Given the description of an element on the screen output the (x, y) to click on. 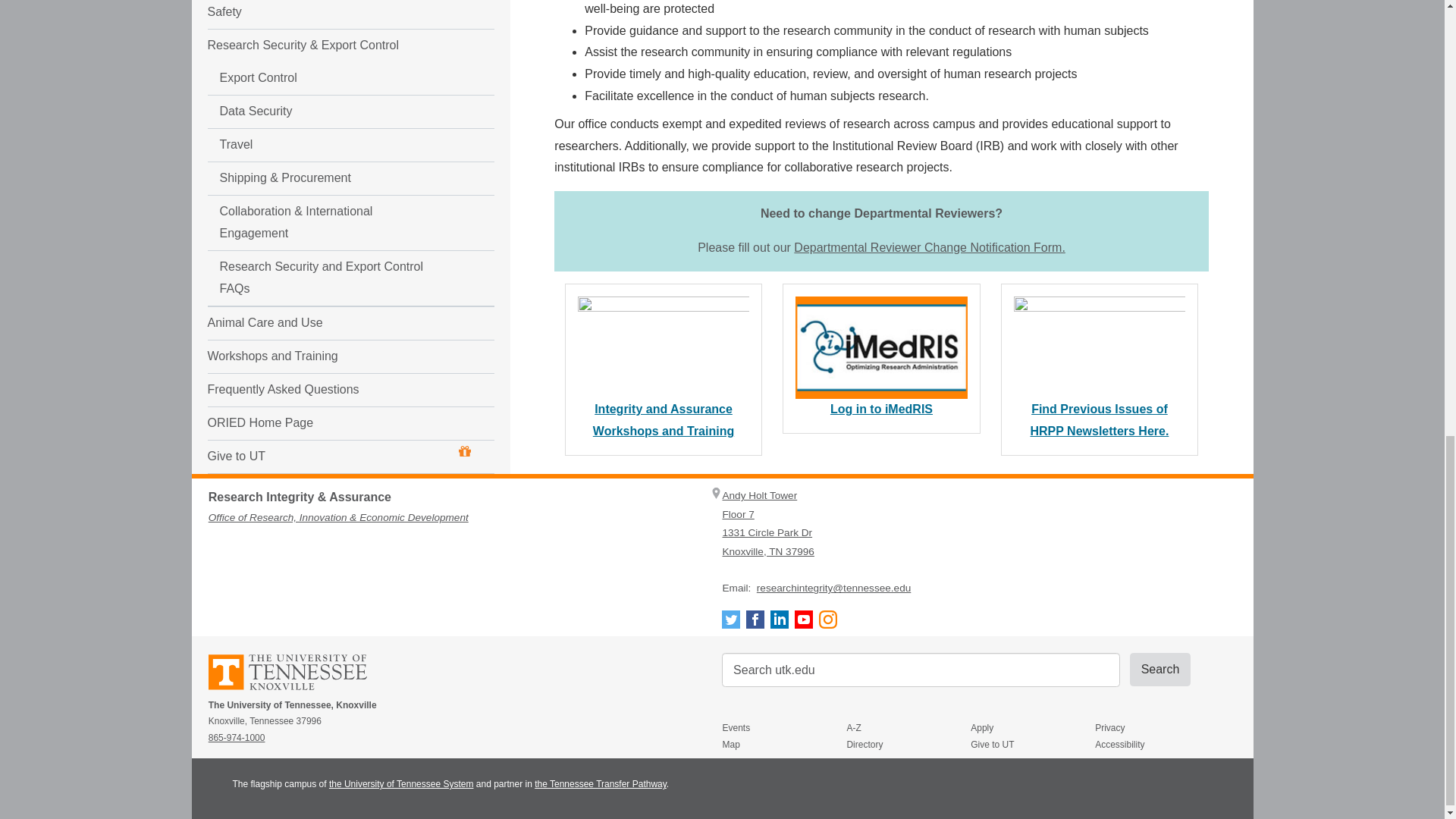
Give to UT (339, 240)
Search (1160, 669)
Research Security and Export Control FAQs (322, 62)
Animal Care and Use (322, 106)
ORIED Home Page (322, 206)
Departmental Reviewer Change Notification Form. (928, 246)
Search utk.edu (920, 669)
search (920, 669)
Workshops and Training (322, 140)
Submit (1160, 669)
Frequently Asked Questions (322, 174)
Integrity and Assurance Workshops and Training (662, 419)
